Given the description of an element on the screen output the (x, y) to click on. 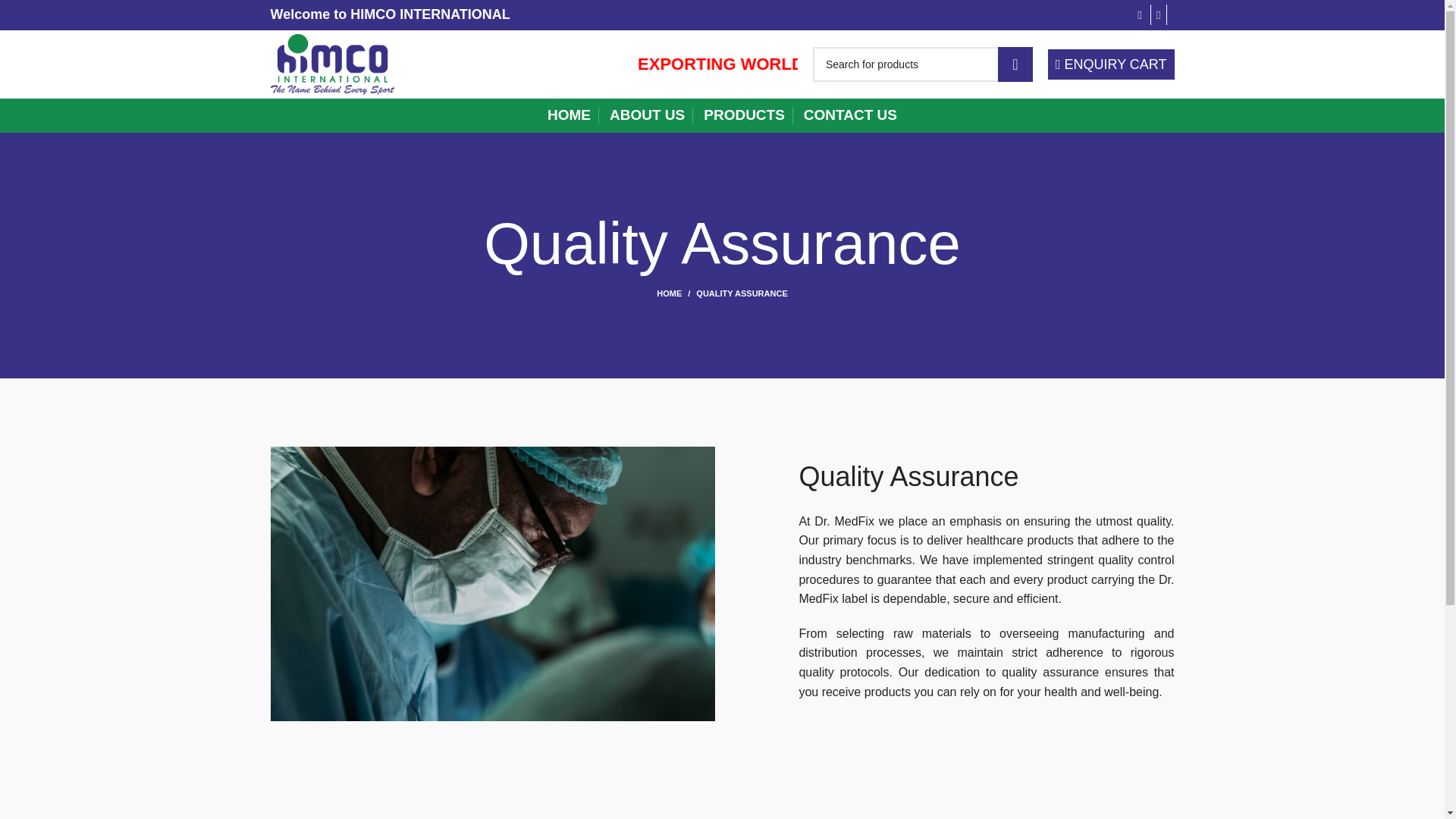
PRODUCTS (743, 115)
ABOUT US (647, 115)
ENQUIRY CART (1111, 64)
SEARCH (1014, 63)
Search for products (922, 63)
HOME (569, 115)
Enquiry cart (1111, 64)
Call now (1141, 14)
